Given the description of an element on the screen output the (x, y) to click on. 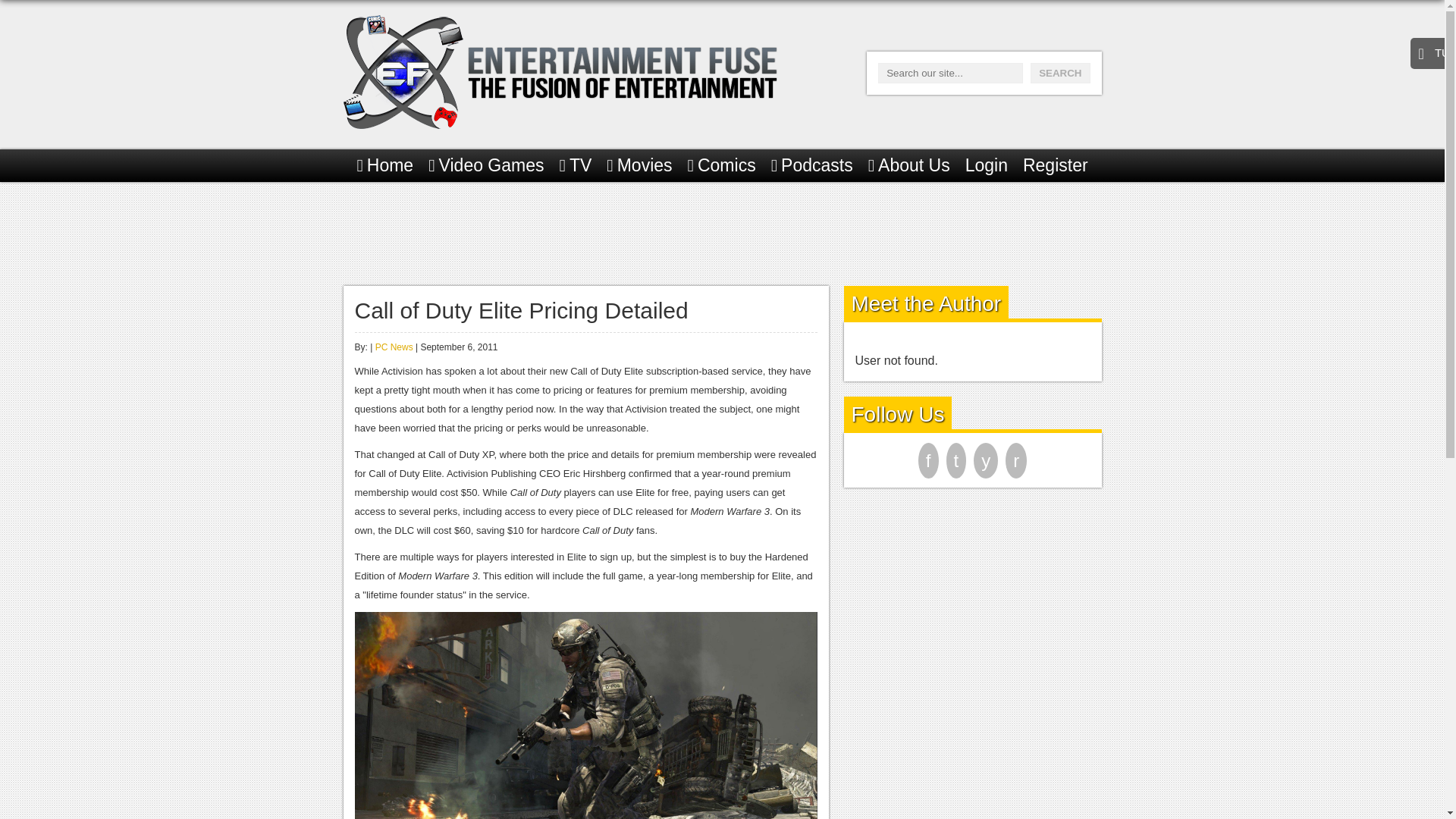
Comics (721, 165)
TV (575, 165)
Search (1059, 73)
Search (1059, 73)
Advertisement (721, 231)
Movies (639, 165)
Video Games (485, 165)
Home (384, 165)
